Given the description of an element on the screen output the (x, y) to click on. 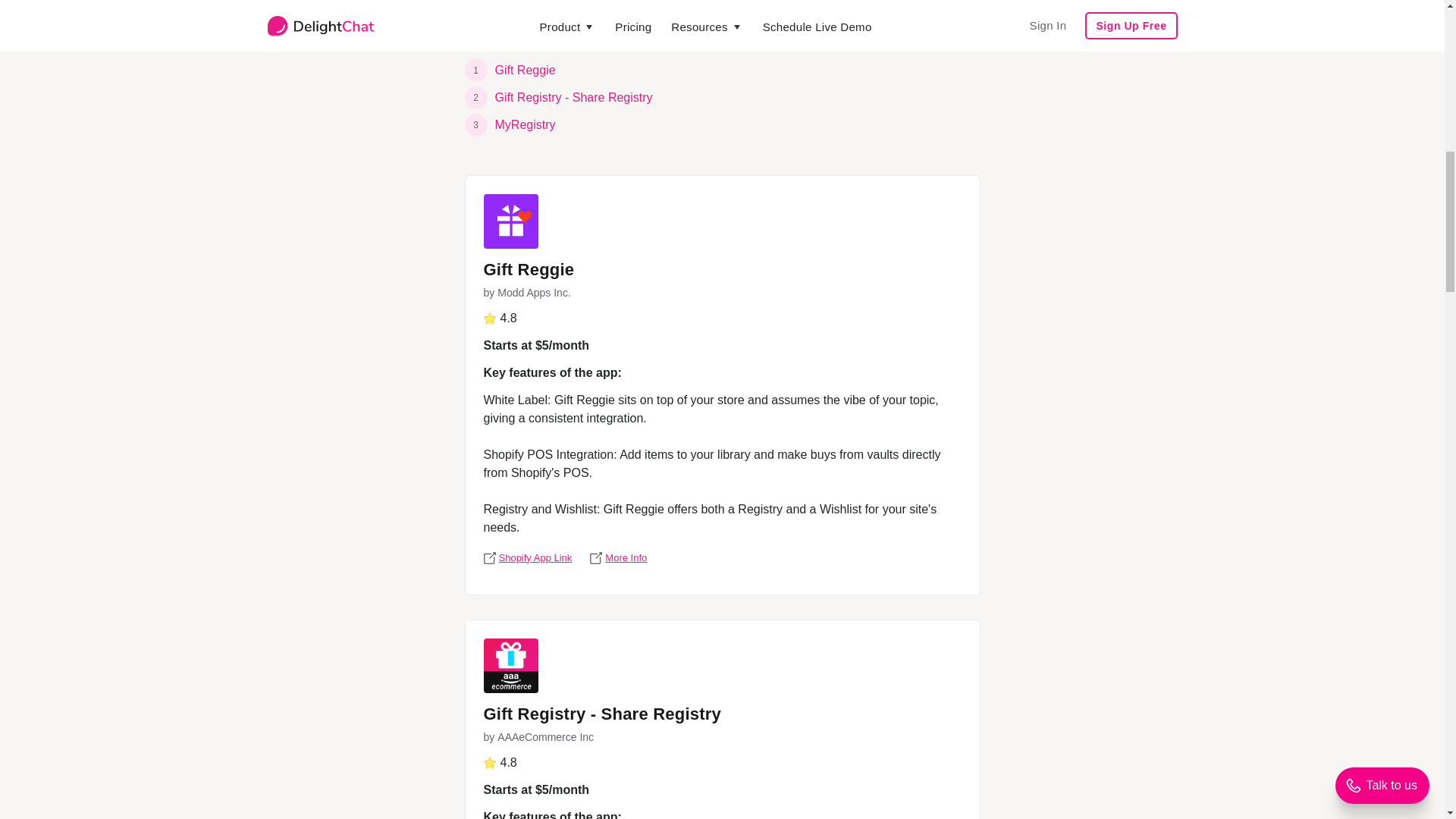
Gift Reggie (529, 271)
MyRegistry (524, 124)
Shopify App Link (527, 557)
Gift Reggie (524, 69)
